Given the description of an element on the screen output the (x, y) to click on. 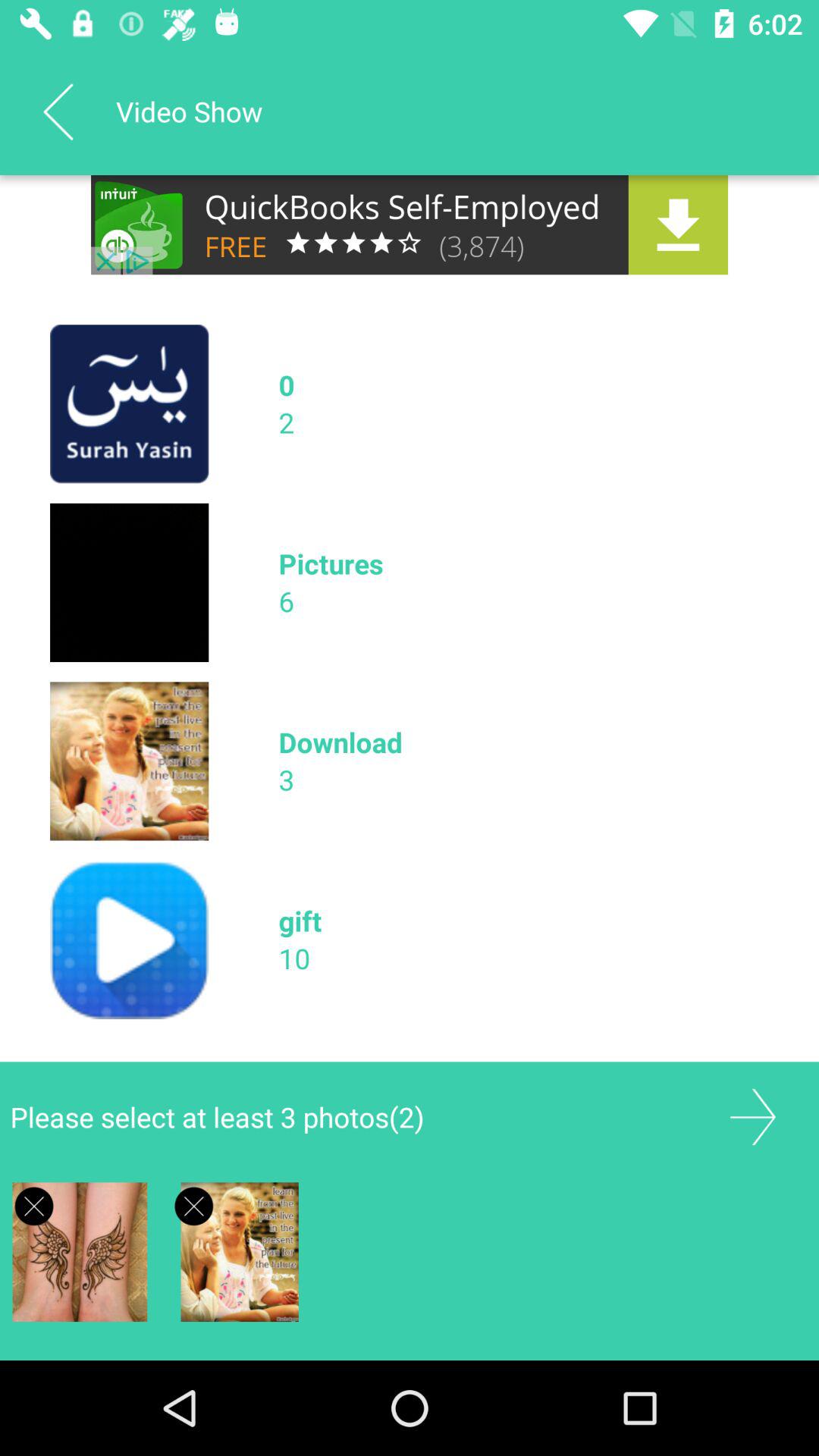
go back (57, 111)
